Given the description of an element on the screen output the (x, y) to click on. 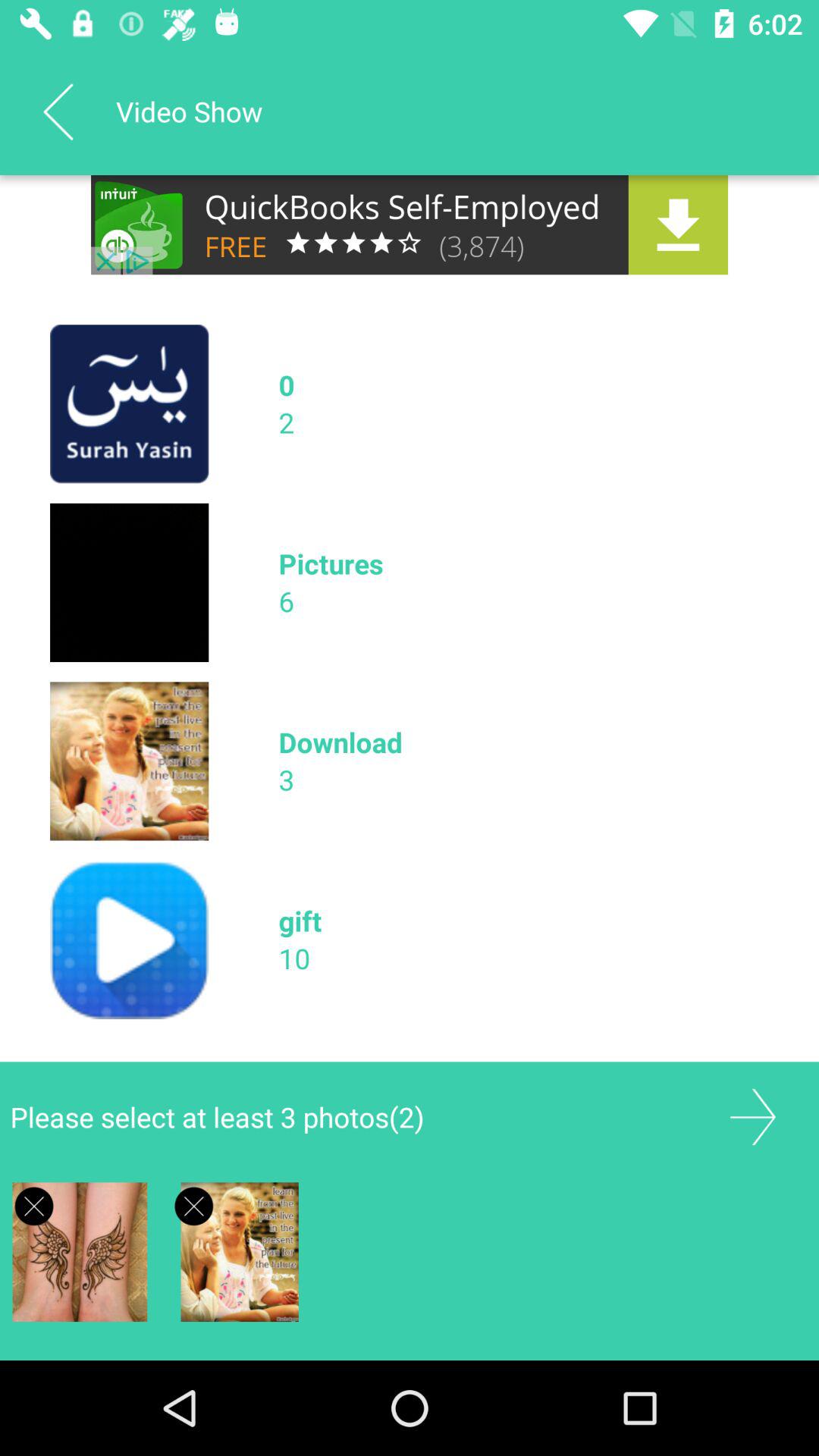
go back (57, 111)
